Given the description of an element on the screen output the (x, y) to click on. 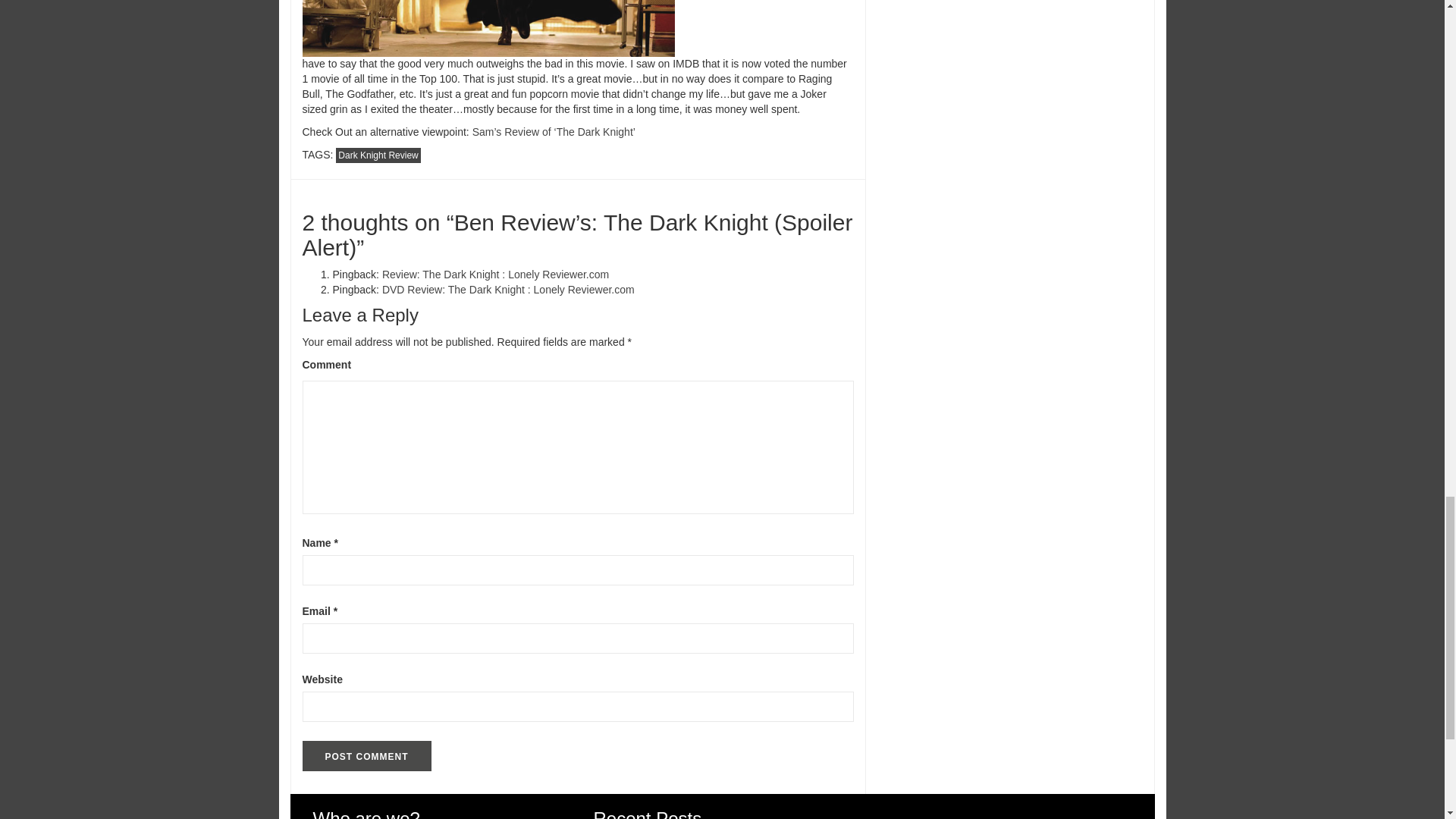
Review: The Dark Knight : Lonely Reviewer.com (494, 274)
DVD Review: The Dark Knight : Lonely Reviewer.com (507, 289)
Post Comment (365, 756)
Post Comment (365, 756)
Dark Knight Review (378, 155)
